Given the description of an element on the screen output the (x, y) to click on. 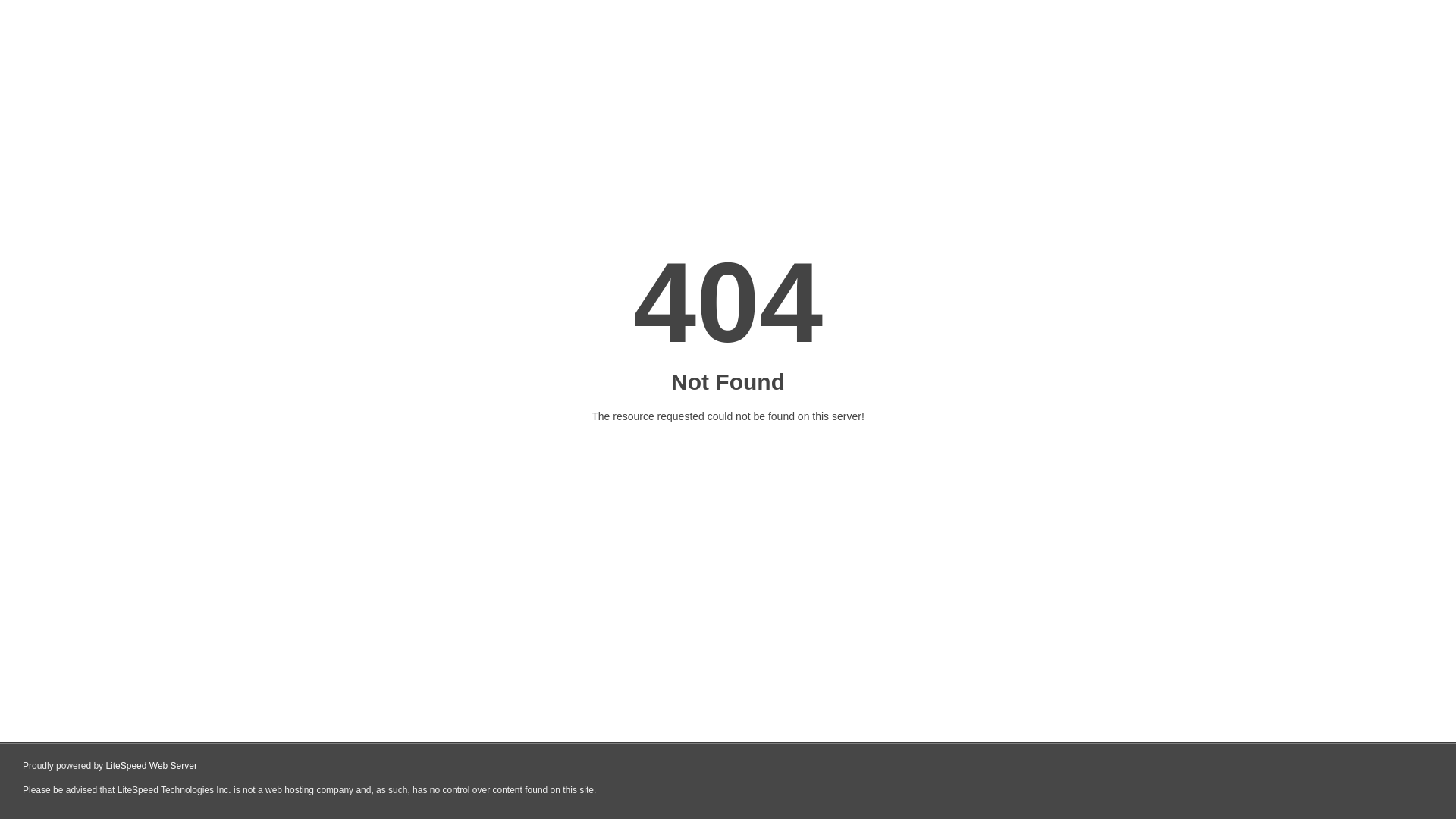
LiteSpeed Web Server Element type: text (151, 765)
